Given the description of an element on the screen output the (x, y) to click on. 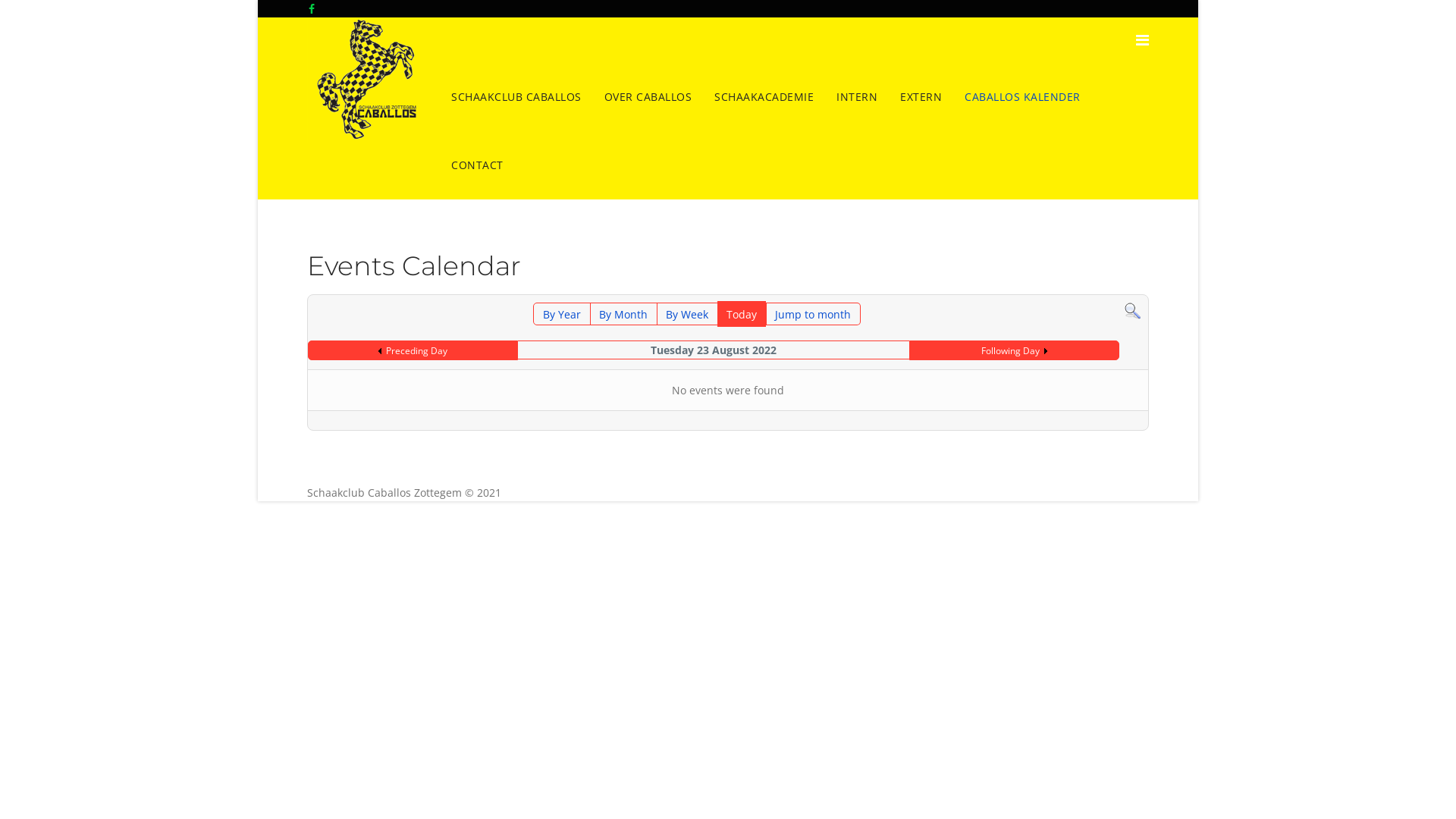
By Week Element type: text (686, 313)
INTERN Element type: text (856, 96)
CONTACT Element type: text (476, 165)
Preceding Day Element type: text (412, 350)
By Year Element type: text (561, 313)
OVER CABALLOS Element type: text (648, 96)
Following Day Element type: text (1014, 350)
CABALLOS KALENDER Element type: text (1022, 96)
SCHAAKCLUB CABALLOS Element type: text (516, 96)
Search Element type: hover (1132, 311)
By Month Element type: text (622, 313)
Today Element type: text (741, 313)
EXTERN Element type: text (920, 96)
SCHAAKACADEMIE Element type: text (763, 96)
Jump to month Element type: text (812, 313)
Navigation Element type: hover (1141, 39)
